Given the description of an element on the screen output the (x, y) to click on. 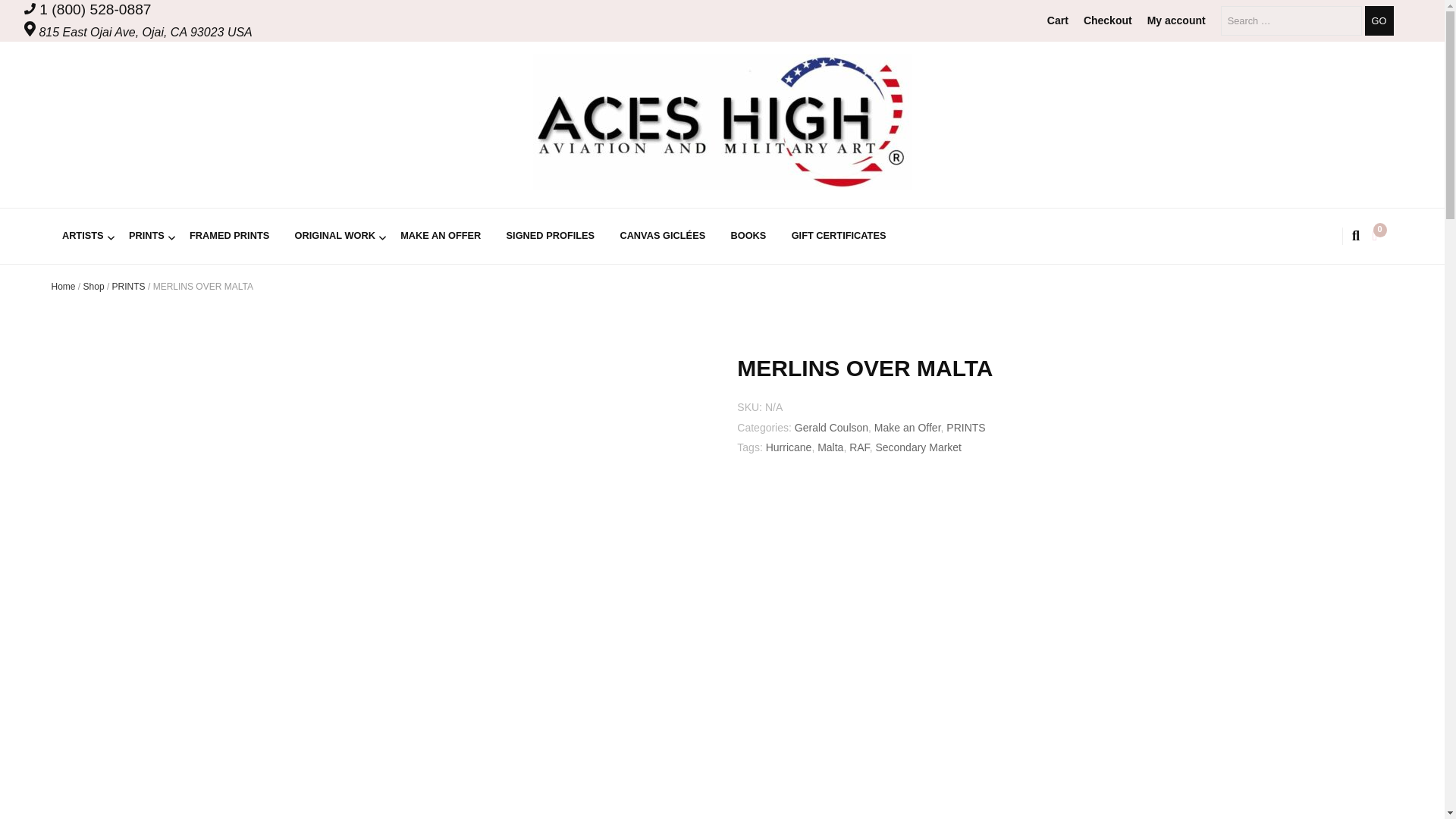
My account (1176, 20)
Go (1379, 20)
Go (1379, 20)
BOOKS (747, 236)
SIGNED PROFILES (550, 236)
Go (1379, 20)
ORIGINAL WORK (334, 236)
FRAMED PRINTS (229, 236)
PRINTS (146, 236)
ARTISTS (82, 236)
